Given the description of an element on the screen output the (x, y) to click on. 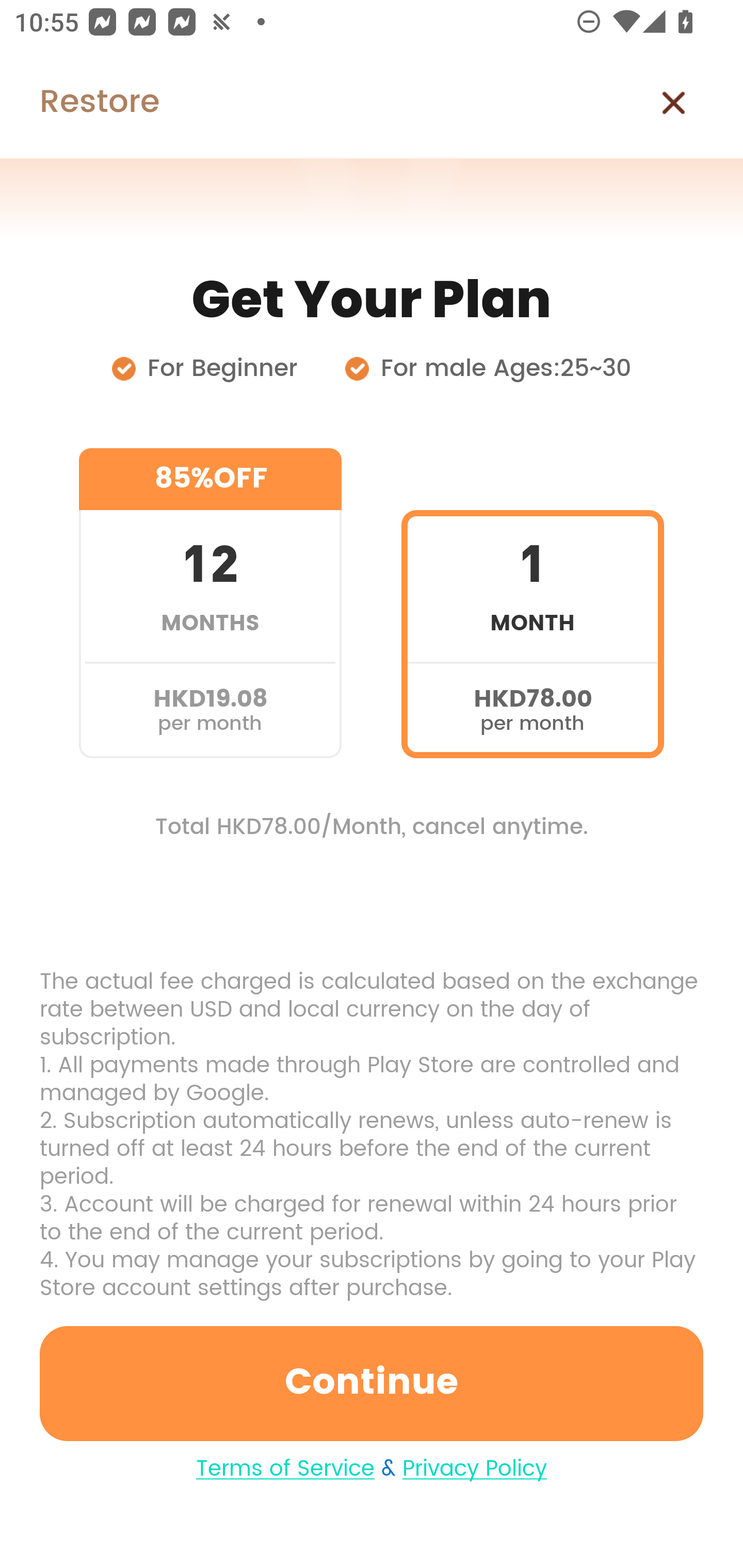
Restore (79, 102)
85%OFF 12 MONTHS per month HKD19.08 (209, 603)
1 MONTH per month HKD78.00 (532, 603)
Continue (371, 1383)
